Given the description of an element on the screen output the (x, y) to click on. 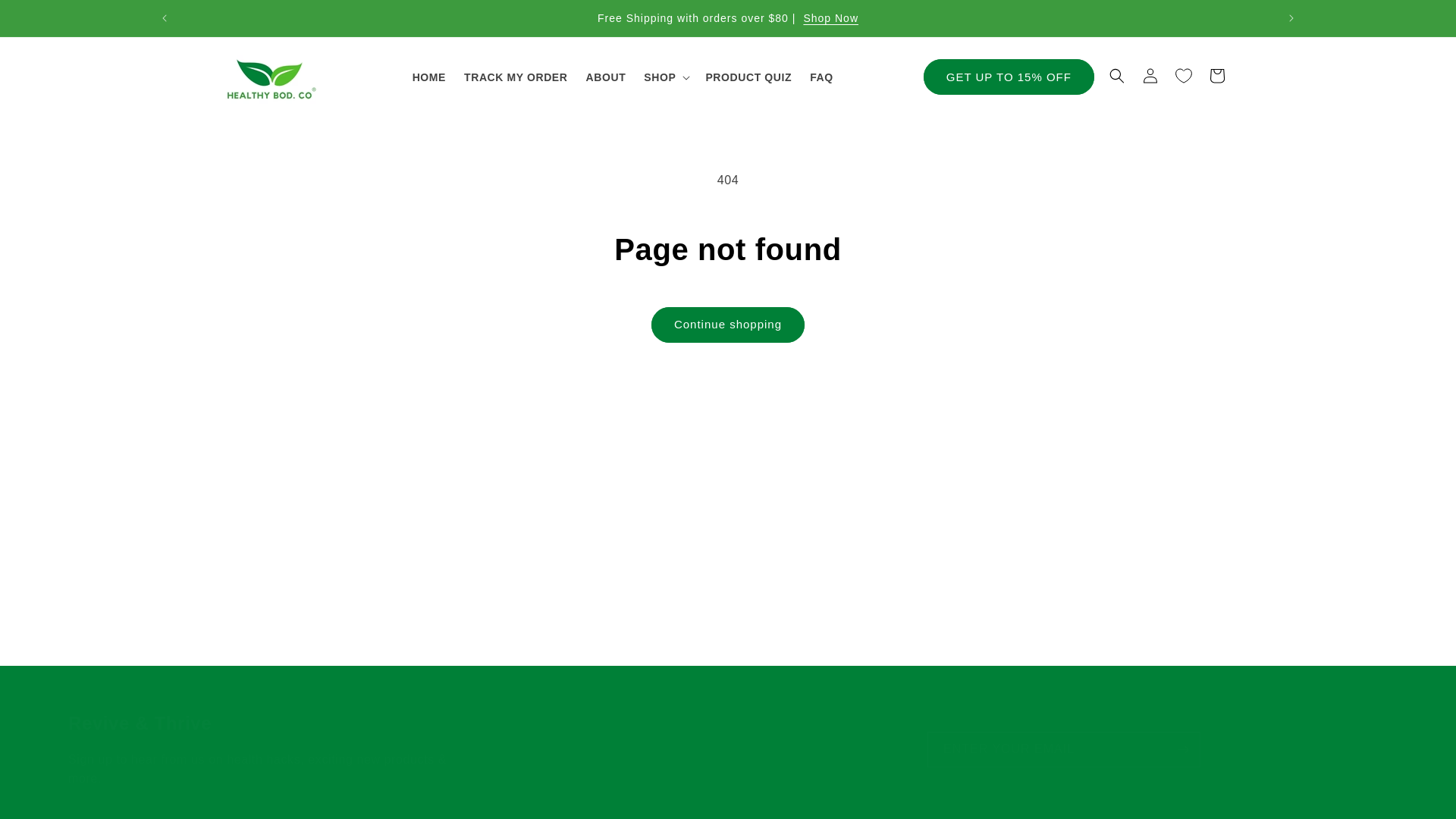
ENTER YOUR EMAIL (1063, 749)
HOME (428, 77)
TRACK MY ORDER (515, 77)
Shop Now (831, 18)
Skip to content (45, 17)
ABOUT (605, 77)
